Given the description of an element on the screen output the (x, y) to click on. 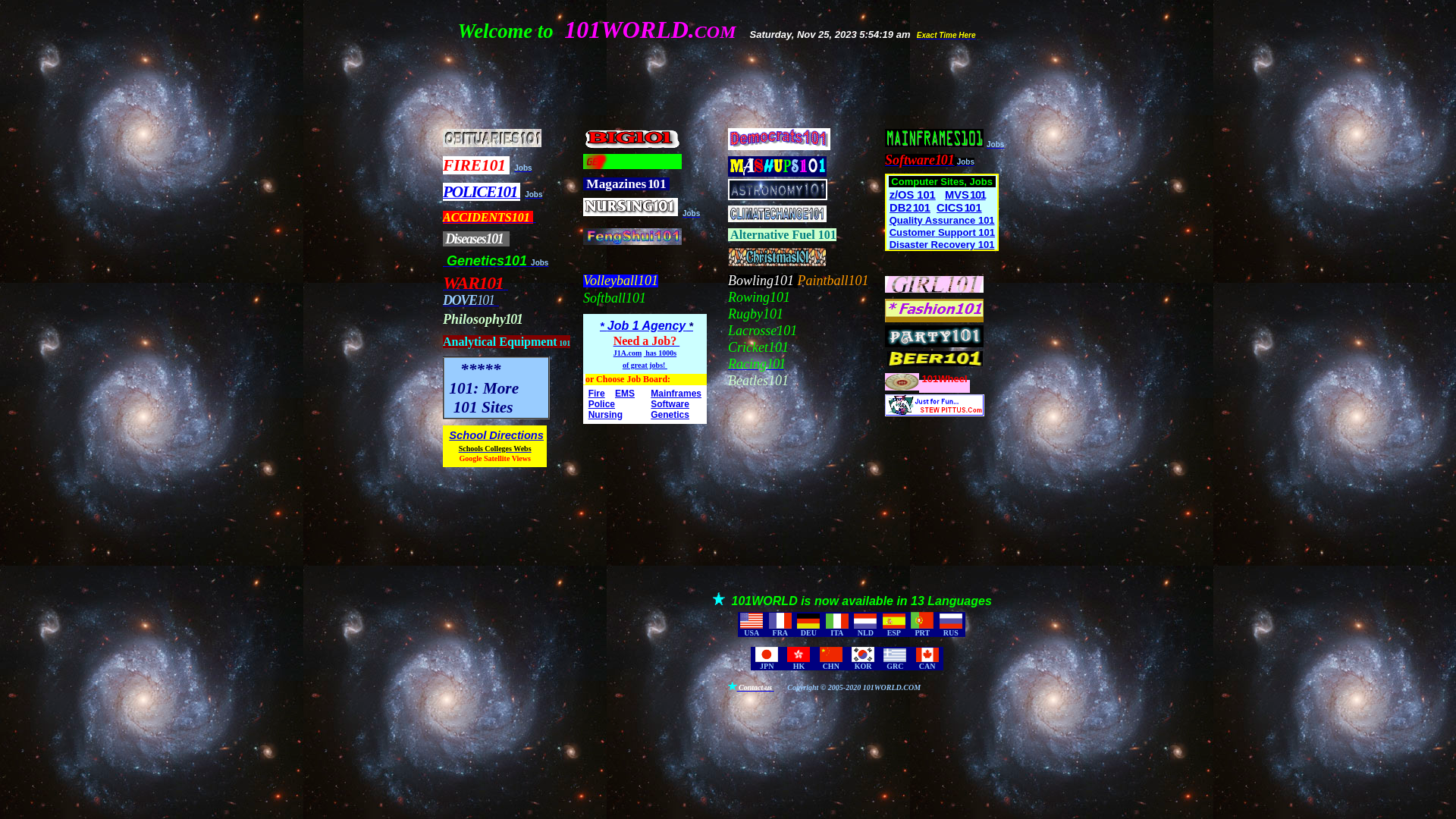
J1A.com Element type: text (627, 352)
 Genetics101 Element type: text (486, 260)
Software101 Element type: text (919, 159)
Lacrosse101 Element type: text (762, 330)
Computer Sites, Jobs Element type: text (941, 181)
  Element type: text (650, 297)
 Magazines 101 Element type: text (626, 183)
Job 1 Agency * Element type: text (650, 325)
Satellite Views Element type: text (506, 458)
KOR Element type: text (863, 665)
Jobs Element type: text (539, 260)
Advertisement Element type: hover (567, 660)
Jobs Element type: text (690, 211)
Schools Colleges Element type: text (486, 448)
  Element type: text (507, 238)
Rowing101 Element type: text (759, 297)
Bowling101 Element type: text (760, 280)
*  Element type: text (603, 326)
  Element type: text (443, 238)
Genetics Element type: text (669, 413)
Advertisement Element type: hover (724, 84)
ITA Element type: text (836, 631)
Paintball101 Element type: text (833, 280)
Diseases101 Element type: text (475, 238)
  Element type: text (793, 347)
Quality Assurance 101 Element type: text (941, 219)
Analytical Equipment 101 Element type: text (506, 341)
PRT Element type: text (921, 631)
  101 Sites Element type: text (478, 407)
Softball101 Element type: text (614, 297)
Alternative Fuel 101 Element type: text (783, 234)
  Element type: text (506, 284)
NLD Element type: text (865, 631)
MVS 101 Element type: text (964, 194)
School Directions Element type: text (495, 435)
Need a Job?  Element type: text (646, 340)
Software Element type: text (669, 402)
Disaster Element type: text (908, 243)
WAR101 Element type: text (472, 284)
EMS Element type: text (624, 393)
Webs Element type: text (521, 446)
GRC Element type: text (894, 665)
Rugby101 Element type: text (755, 313)
Customer Element type: text (912, 231)
FIRE101 Element type: text (475, 166)
Volleyball101 Element type: text (620, 280)
JPN Element type: text (766, 665)
Jobs Element type: text (995, 142)
Cricket101 Element type: text (758, 347)
CICS 101 Element type: text (959, 207)
DEU Element type: text (808, 631)
Beatles101 Element type: text (758, 380)
Recovery 101 Element type: text (962, 243)
DB2 101 Element type: text (909, 207)
z/OS 101 Element type: text (912, 194)
ESP Element type: text (893, 631)
 has 1000s Element type: text (659, 352)
Philosophy101 Element type: text (482, 319)
Contact us Element type: text (755, 685)
Exact Time Here Element type: text (945, 35)
Fire Element type: text (596, 393)
Mainframes Element type: text (675, 391)
ACCIDENTS101   Element type: text (489, 216)
RUS Element type: text (950, 631)
Jobs Element type: text (522, 166)
   *****
 101: More Element type: text (481, 379)
CAN Element type: text (927, 665)
CHN Element type: text (830, 665)
POLICE101 Element type: text (481, 192)
DOVE101   Element type: text (470, 300)
Jobs Element type: text (533, 192)
USA Element type: text (751, 631)
Racing1 0 1 Element type: text (756, 363)
HK Element type: text (799, 665)
Advertisement Element type: hover (702, 504)
of great jobs!  Element type: text (644, 364)
Nursing Element type: text (605, 414)
Jobs Element type: text (965, 159)
Support 101 Element type: text (966, 231)
  Element type: text (795, 297)
Police Element type: text (601, 403)
FRA Element type: text (780, 631)
  Element type: text (993, 181)
